Given the description of an element on the screen output the (x, y) to click on. 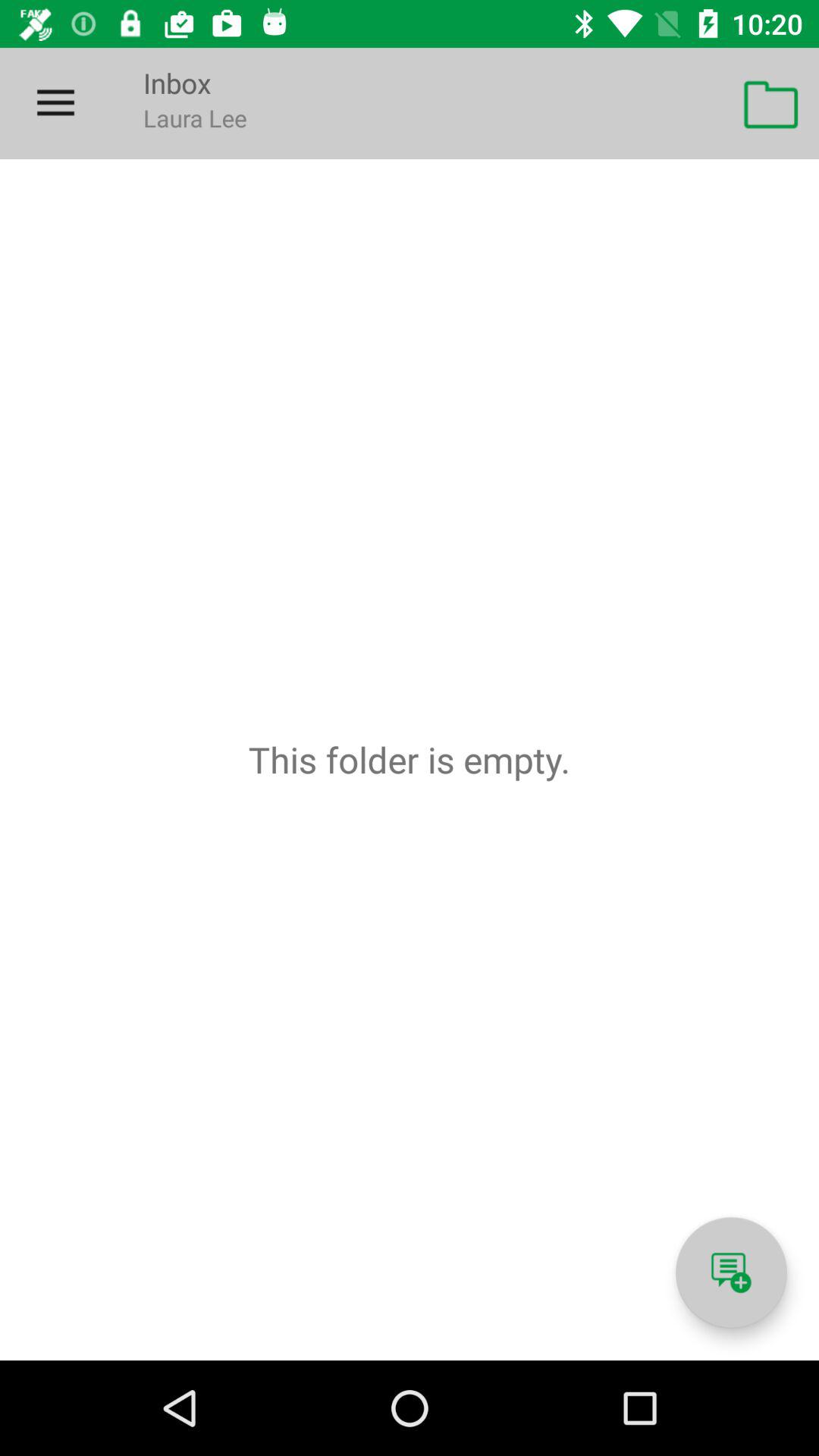
tap the item at the bottom right corner (731, 1272)
